Given the description of an element on the screen output the (x, y) to click on. 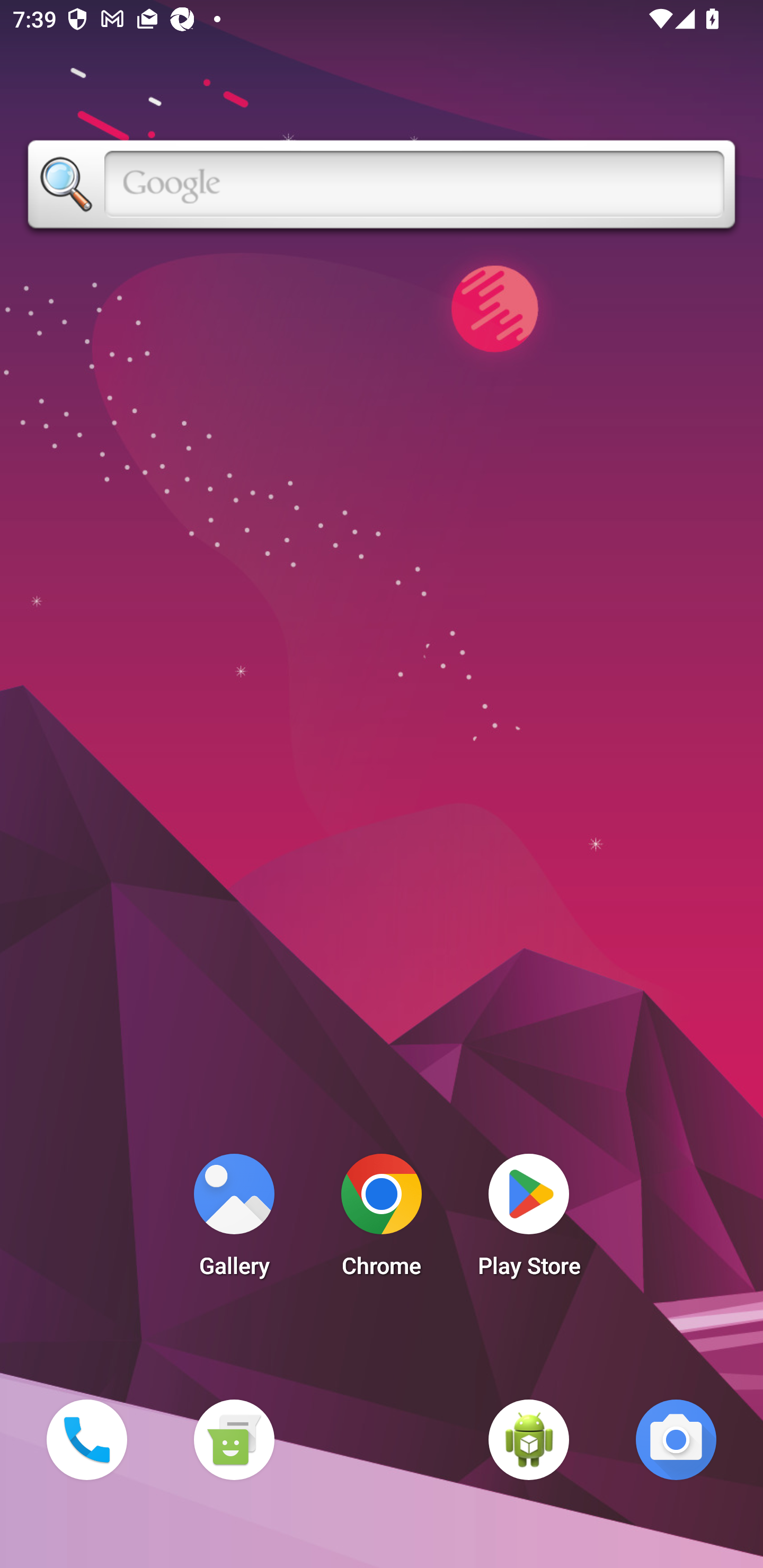
Gallery (233, 1220)
Chrome (381, 1220)
Play Store (528, 1220)
Phone (86, 1439)
Messaging (233, 1439)
WebView Browser Tester (528, 1439)
Camera (676, 1439)
